Given the description of an element on the screen output the (x, y) to click on. 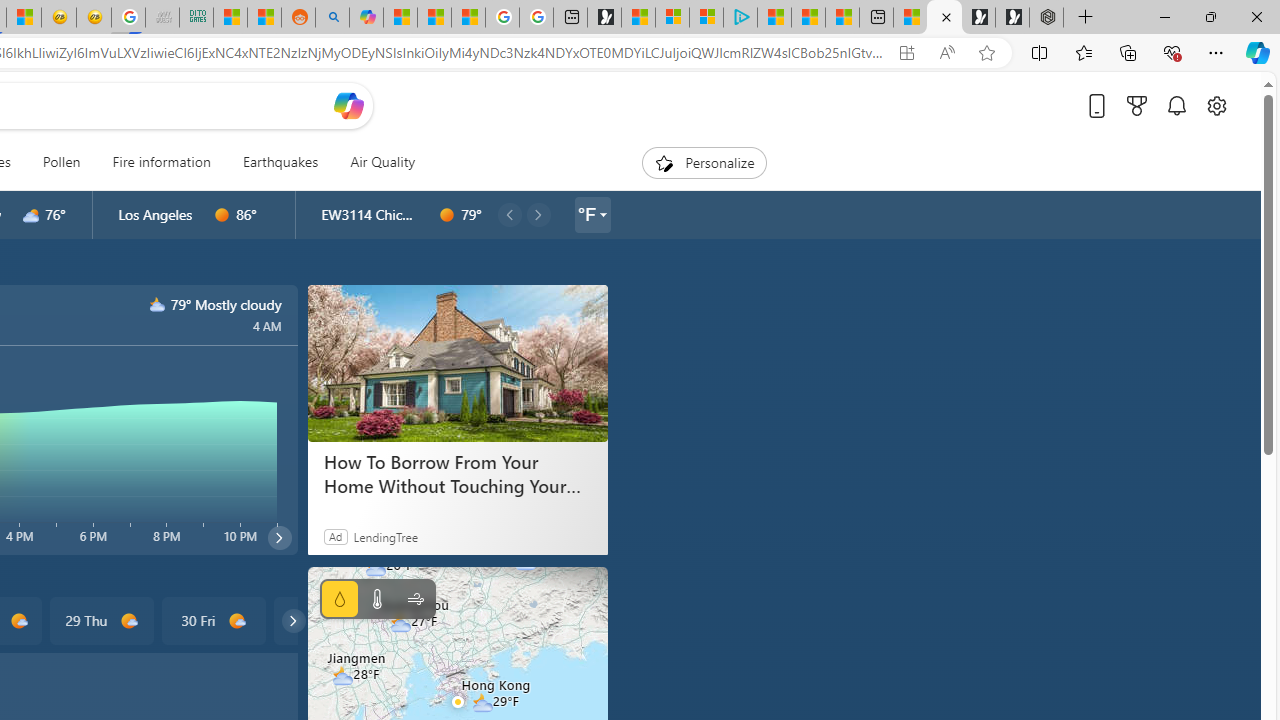
Air Quality (382, 162)
30 Fri d1000 (213, 620)
d3000 (31, 215)
Pollen (61, 162)
